Given the description of an element on the screen output the (x, y) to click on. 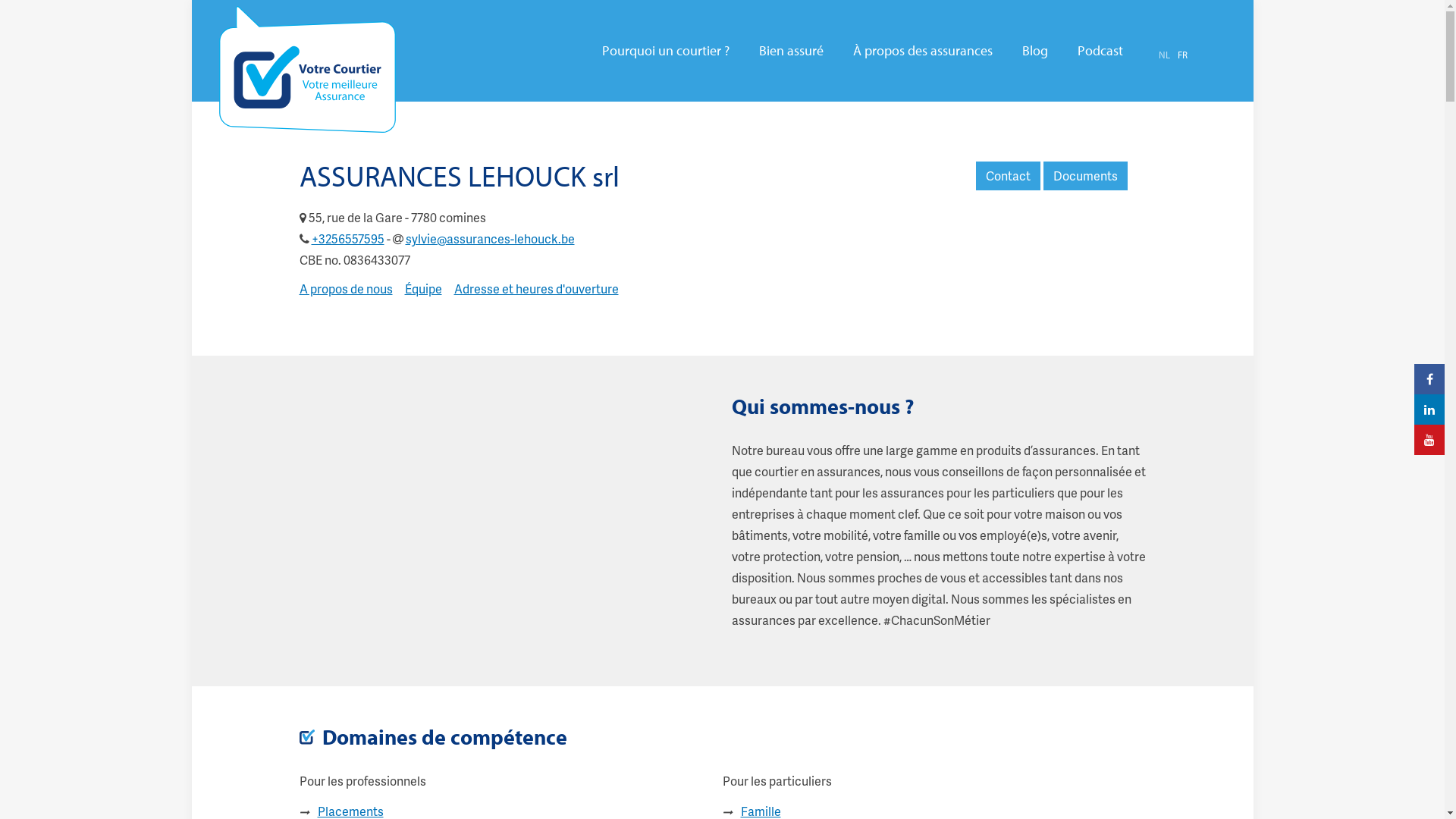
Podcast Element type: text (1099, 50)
Contact Element type: text (1007, 175)
Pourquoi un courtier ? Element type: text (665, 50)
sylvie@assurances-lehouck.be Element type: text (489, 238)
NL Element type: text (1164, 54)
FR Element type: text (1181, 54)
Documents Element type: text (1085, 175)
Blog Element type: text (1034, 50)
+3256557595 Element type: text (346, 238)
A propos de nous Element type: text (345, 288)
Adresse et heures d'ouverture Element type: text (535, 288)
